Given the description of an element on the screen output the (x, y) to click on. 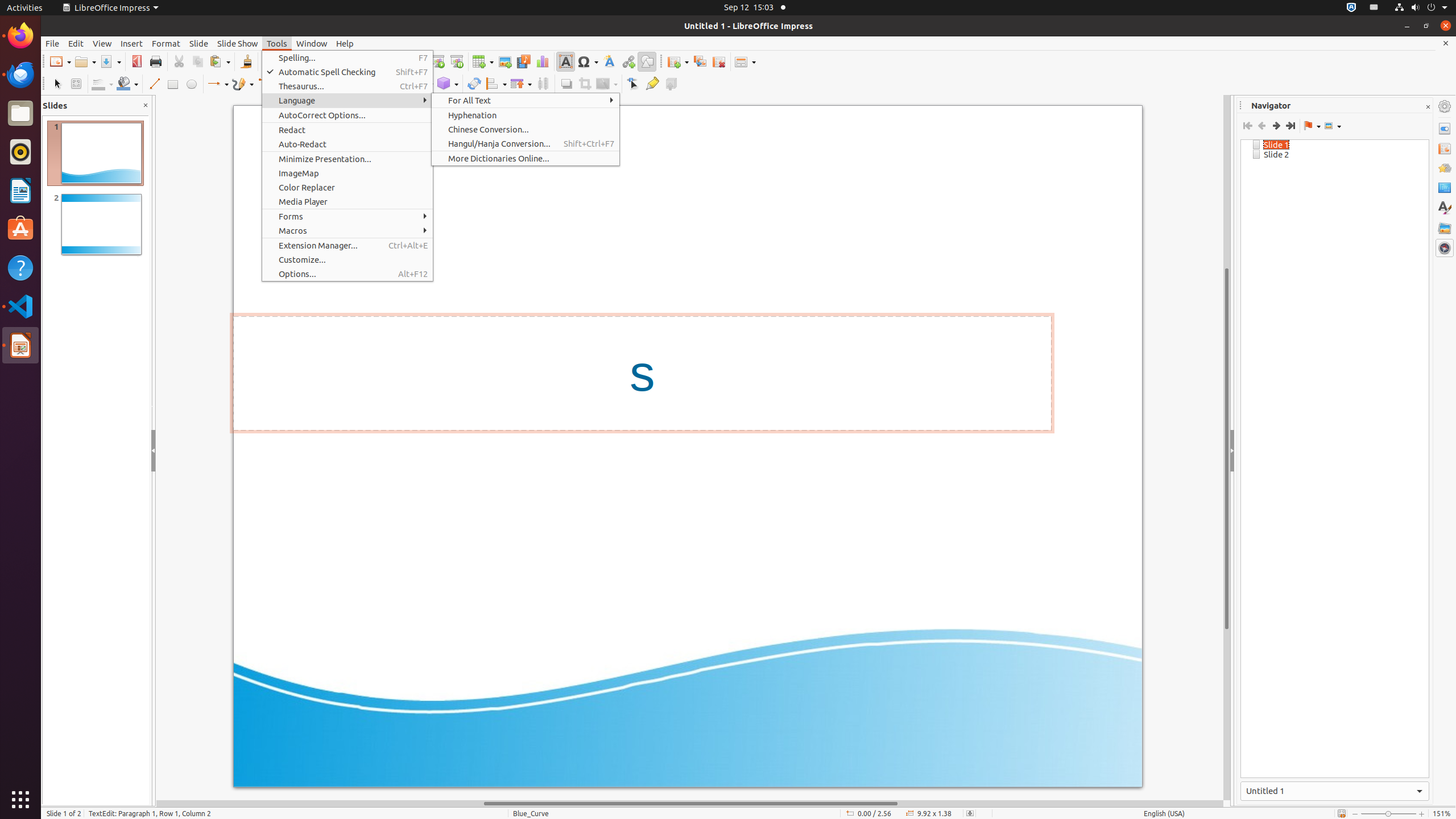
Customize... Element type: menu-item (347, 259)
Select Element type: push-button (56, 83)
Next Slide Element type: push-button (1275, 125)
Ellipse Element type: push-button (191, 83)
Color Replacer Element type: check-menu-item (347, 187)
